Given the description of an element on the screen output the (x, y) to click on. 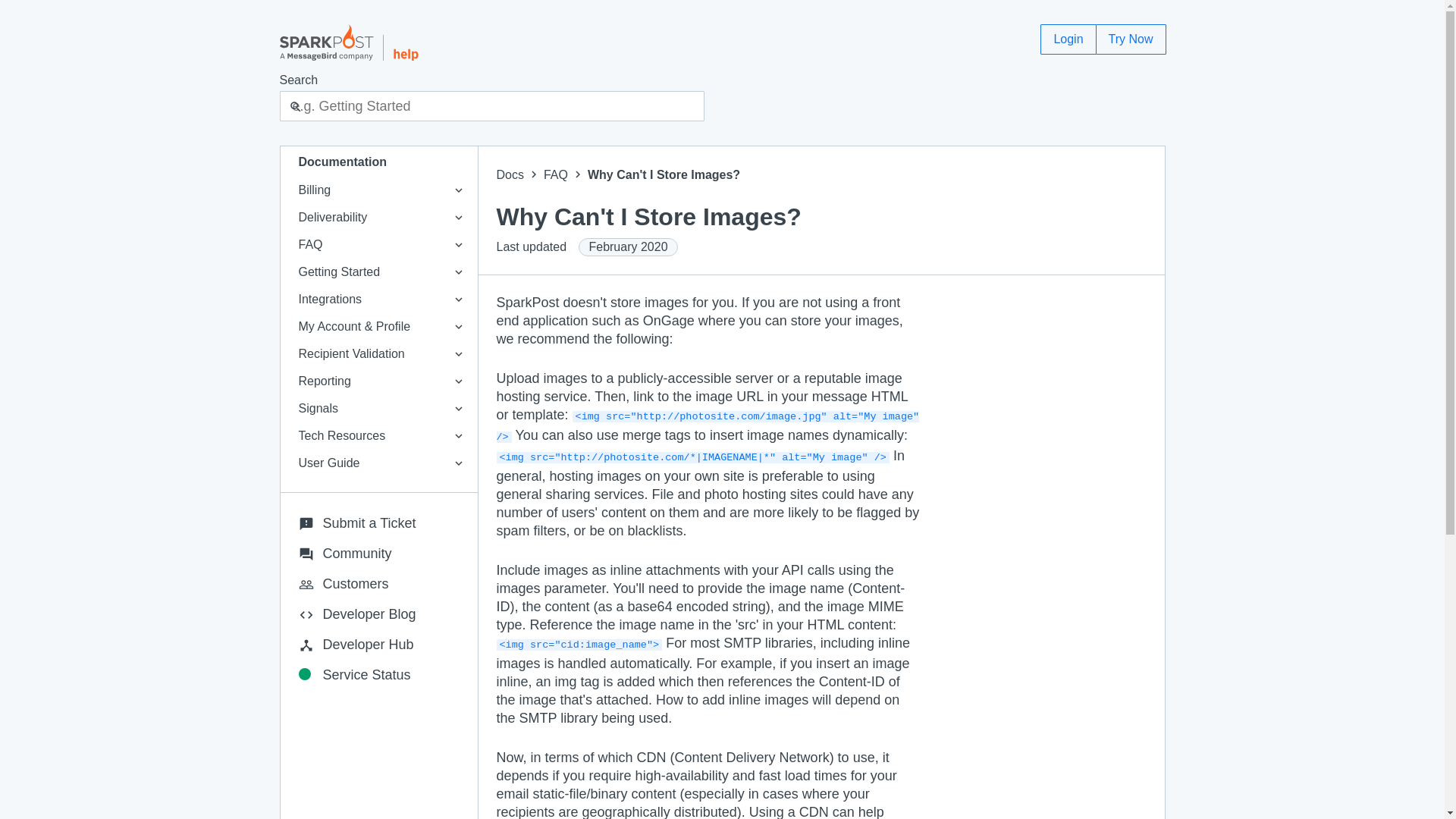
Developer Hub (379, 644)
Service Status (379, 675)
Billing (379, 189)
Community (379, 553)
Signals (379, 408)
Why Can't I Store Images? (663, 174)
Reporting (379, 380)
User Guide (379, 462)
Documentation (379, 161)
Getting Started (379, 271)
